Given the description of an element on the screen output the (x, y) to click on. 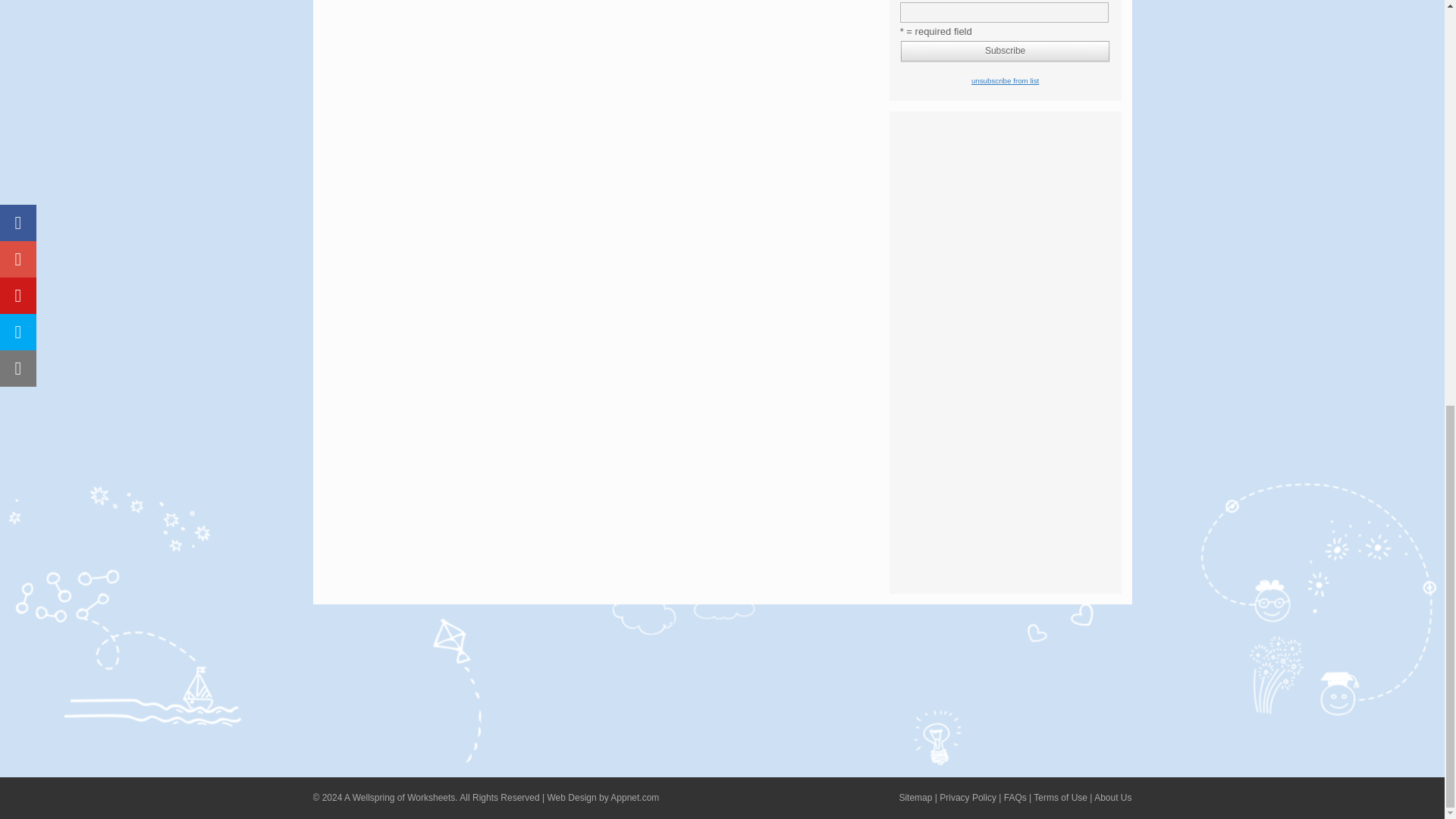
Privacy Policy (967, 797)
Sitemap (914, 797)
Subscribe (1005, 50)
About Us (1112, 797)
unsubscribe from list (1005, 80)
FAQs (1015, 797)
Subscribe (1005, 50)
Terms of Use (1060, 797)
